Given the description of an element on the screen output the (x, y) to click on. 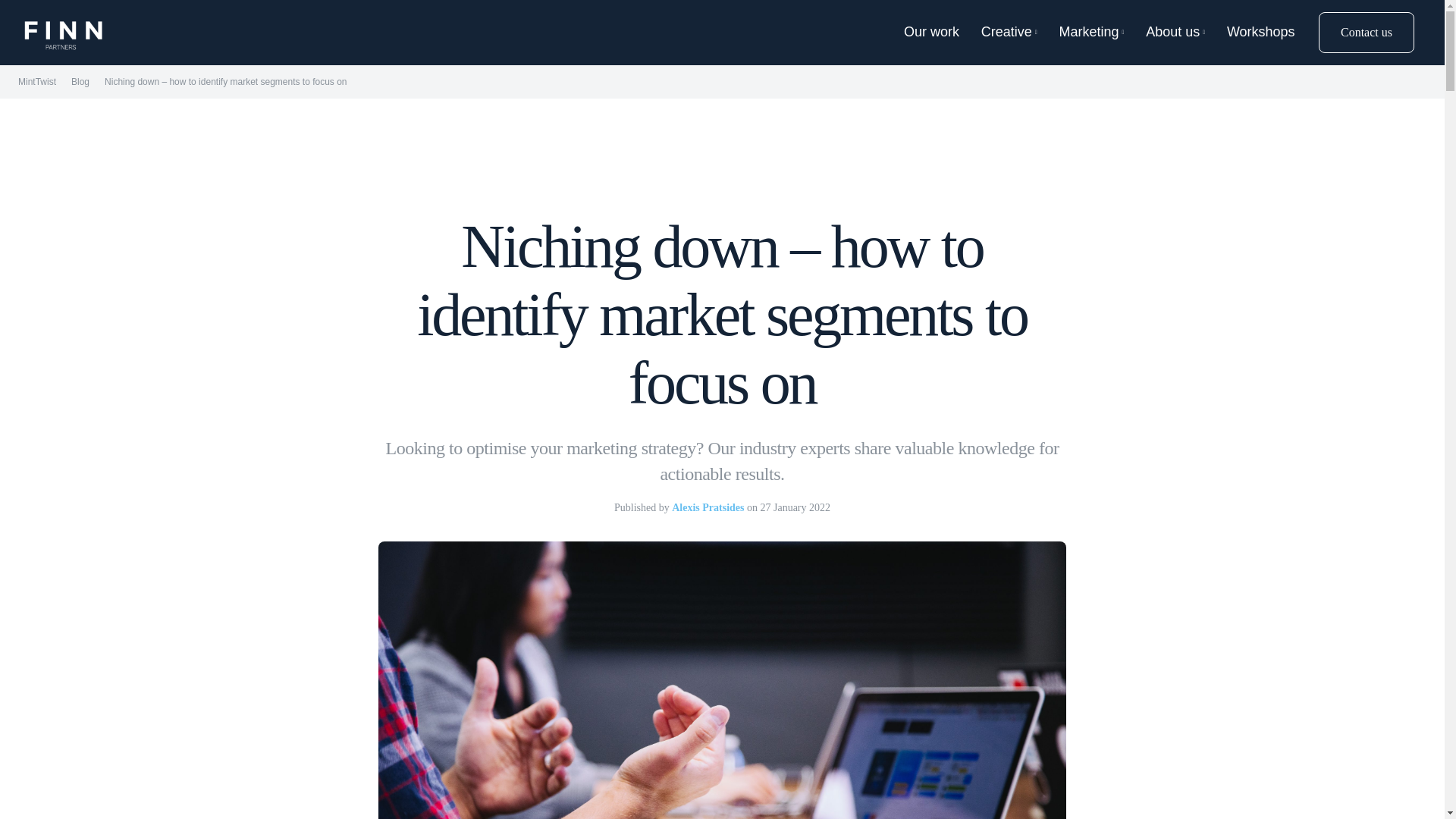
Our work (931, 32)
Blog (79, 81)
Workshops (1261, 32)
Open menu (55, 31)
Alexis Pratsides (707, 507)
Contact us (1366, 32)
About us (1175, 32)
MintTwist (36, 81)
Creative (1008, 32)
Marketing (1091, 32)
